Given the description of an element on the screen output the (x, y) to click on. 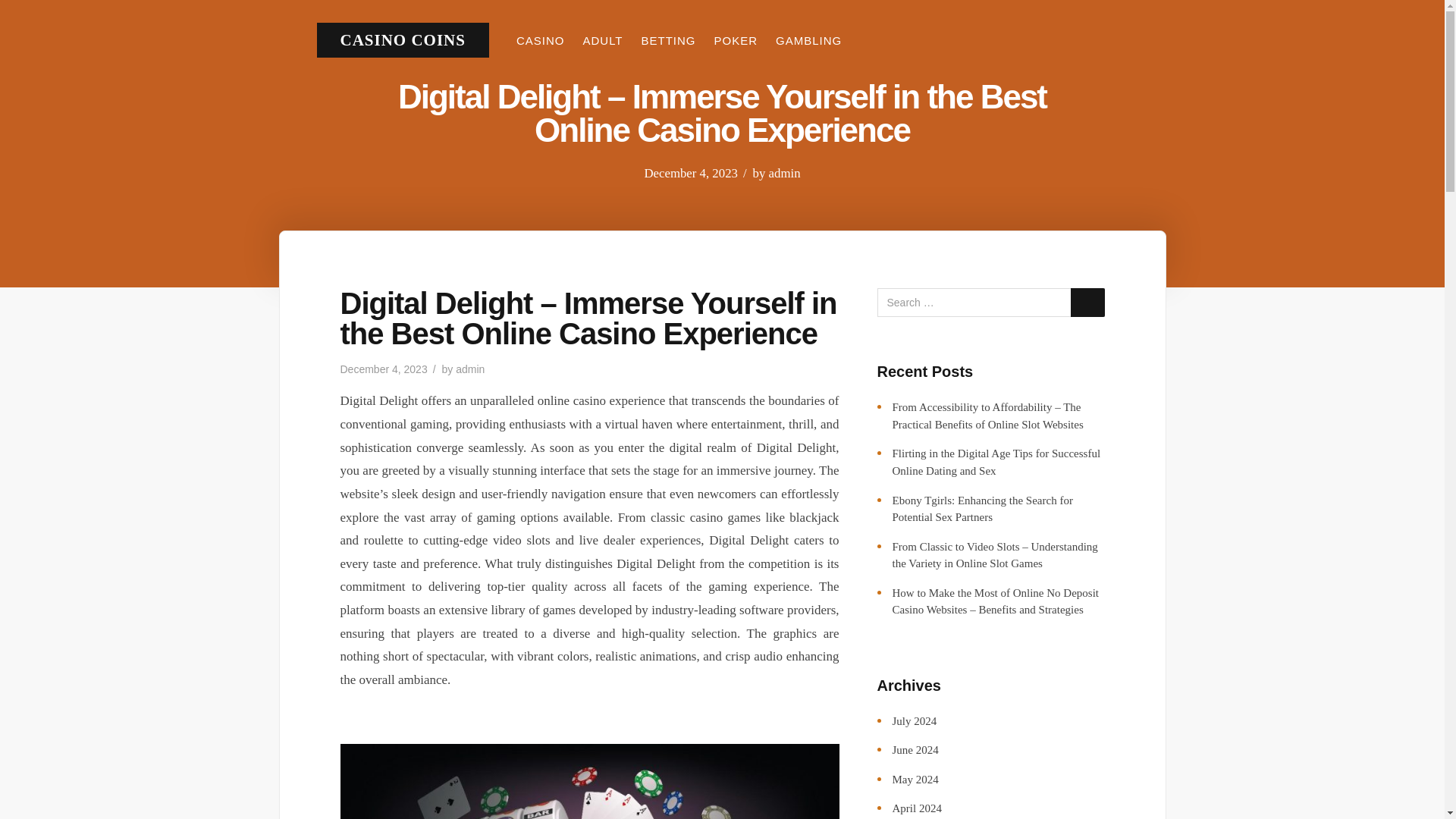
July 2024 (913, 720)
December 4, 2023 (382, 369)
GAMBLING (808, 40)
BETTING (668, 40)
June 2024 (914, 749)
CASINO COINS (401, 40)
admin (469, 369)
POKER (735, 40)
Search for: (989, 302)
May 2024 (914, 779)
CASINO (540, 40)
admin (784, 173)
April 2024 (915, 808)
